Given the description of an element on the screen output the (x, y) to click on. 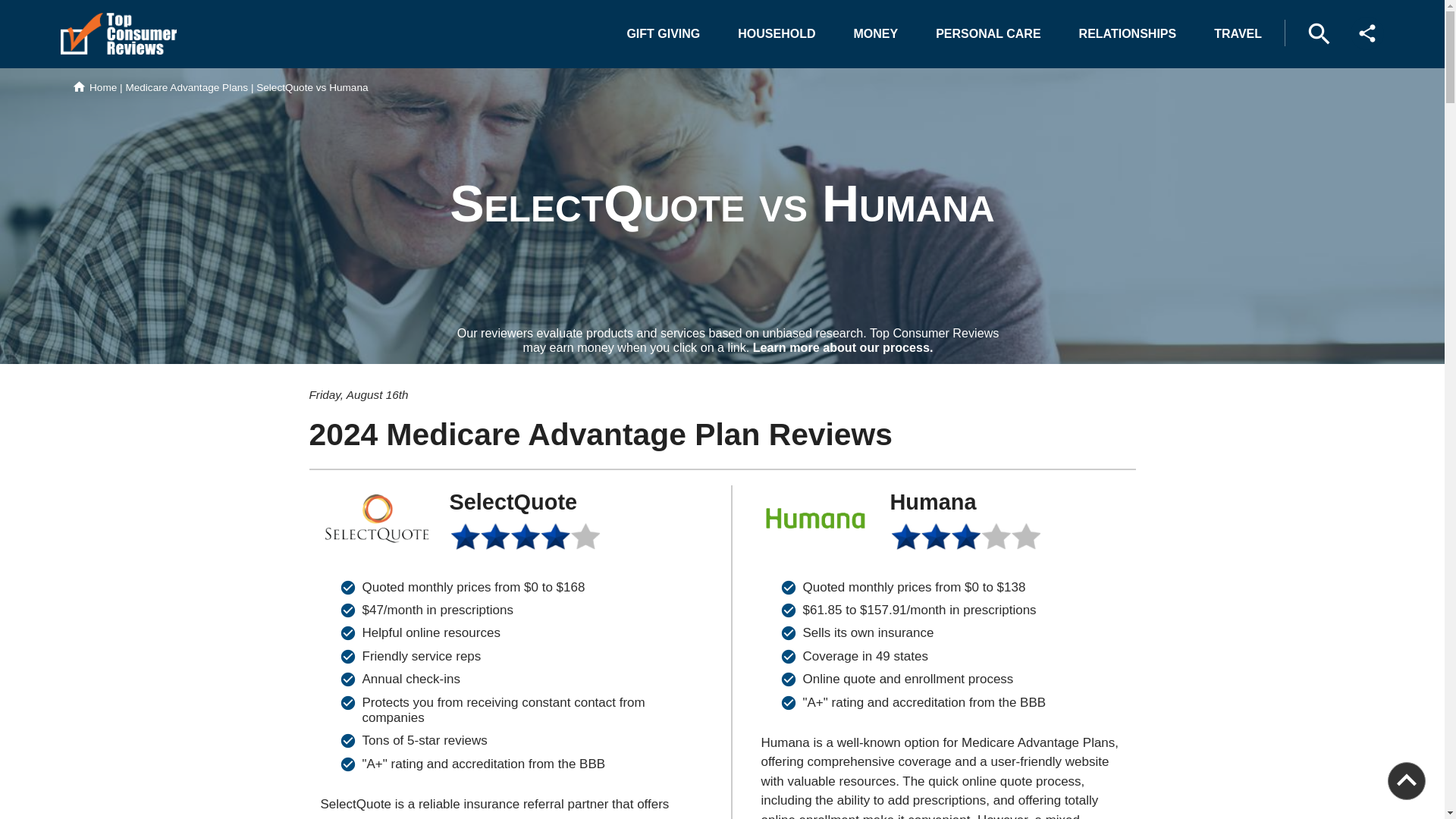
RELATIONSHIPS (1128, 33)
HOUSEHOLD (775, 33)
Search Top Consumer Reviews (1318, 33)
MONEY (876, 33)
Share Top Consumer Reviews (1367, 32)
PERSONAL CARE (987, 33)
GIFT GIVING (662, 33)
TRAVEL (1237, 33)
